Given the description of an element on the screen output the (x, y) to click on. 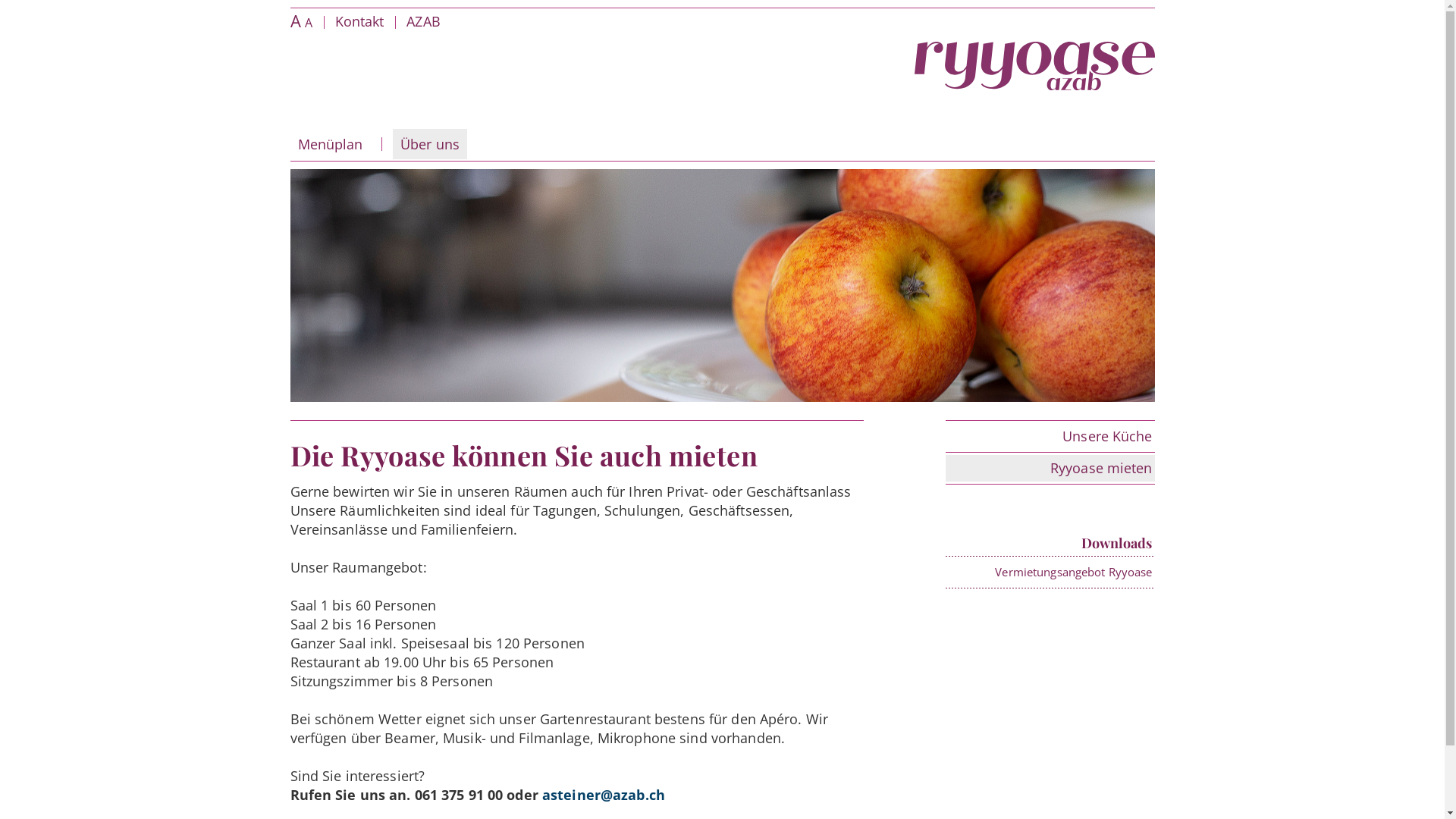
Ryyoase mieten Element type: text (1049, 468)
AZAB Element type: text (422, 21)
Vermietungsangebot Ryyoase Element type: text (1073, 571)
Kontakt Element type: text (359, 21)
A Element type: text (308, 22)
A Element type: text (294, 20)
asteiner@azab.ch Element type: text (603, 794)
